Given the description of an element on the screen output the (x, y) to click on. 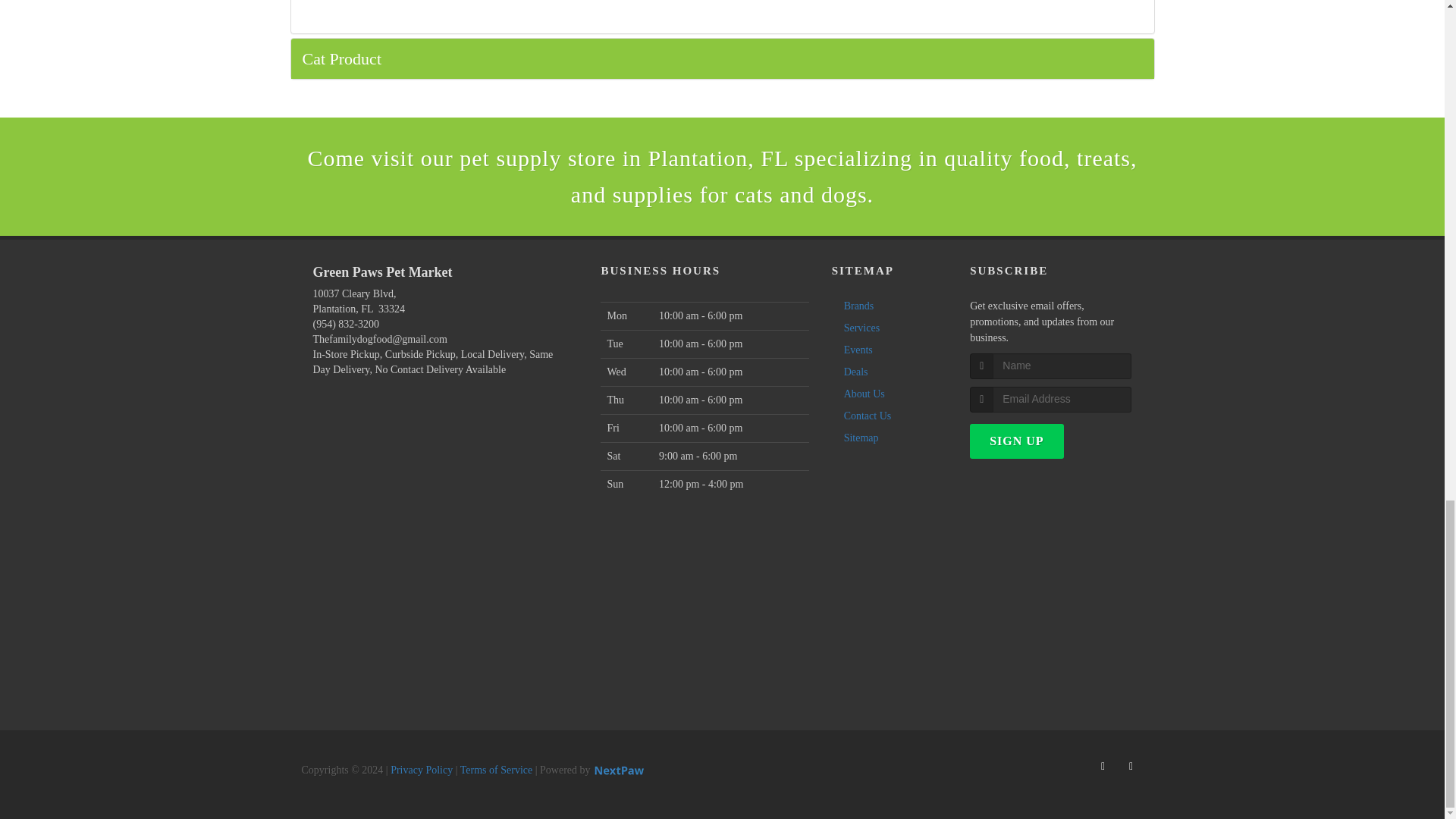
Brands (855, 305)
Contact Us (863, 415)
Services (858, 327)
About Us (860, 393)
Sitemap (857, 437)
Deals (852, 371)
Cat Product (722, 58)
Events (854, 349)
Green Paws Pet Market (433, 280)
